Given the description of an element on the screen output the (x, y) to click on. 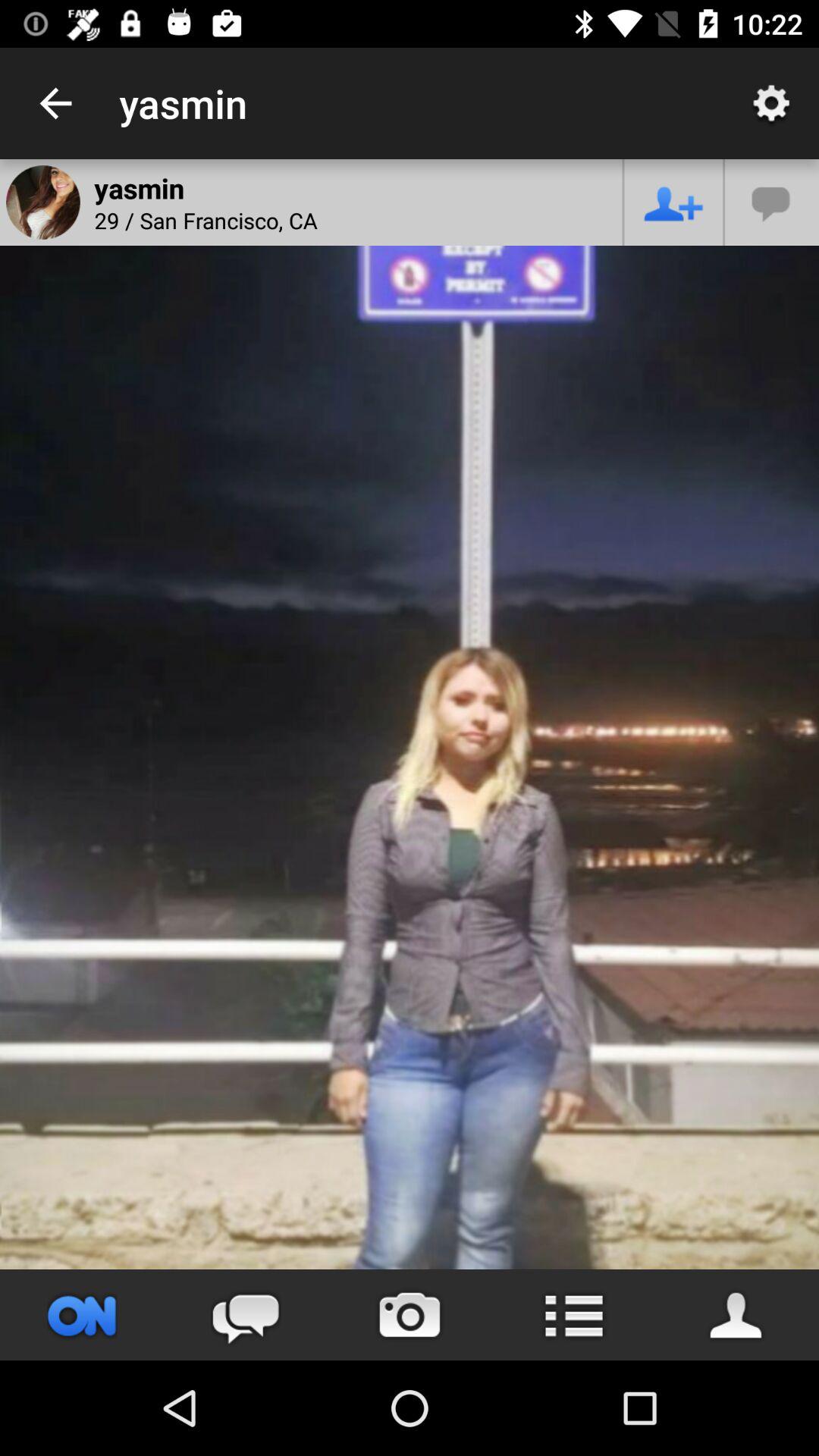
add a comment (772, 202)
